Given the description of an element on the screen output the (x, y) to click on. 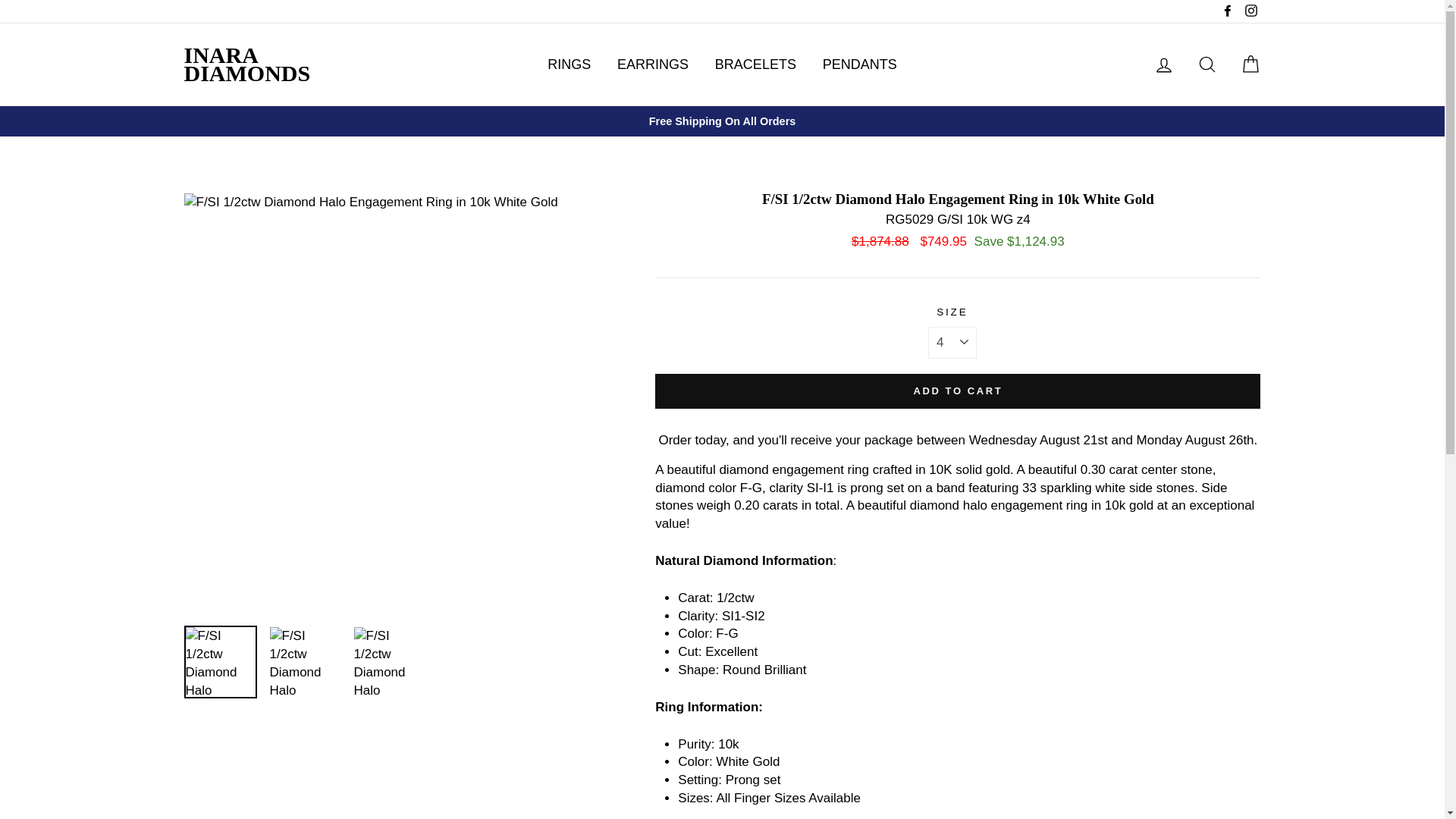
Cart (1249, 64)
PENDANTS (859, 64)
RINGS (568, 64)
ADD TO CART (957, 390)
INARA DIAMONDS (246, 63)
EARRINGS (652, 64)
BRACELETS (755, 64)
